Given the description of an element on the screen output the (x, y) to click on. 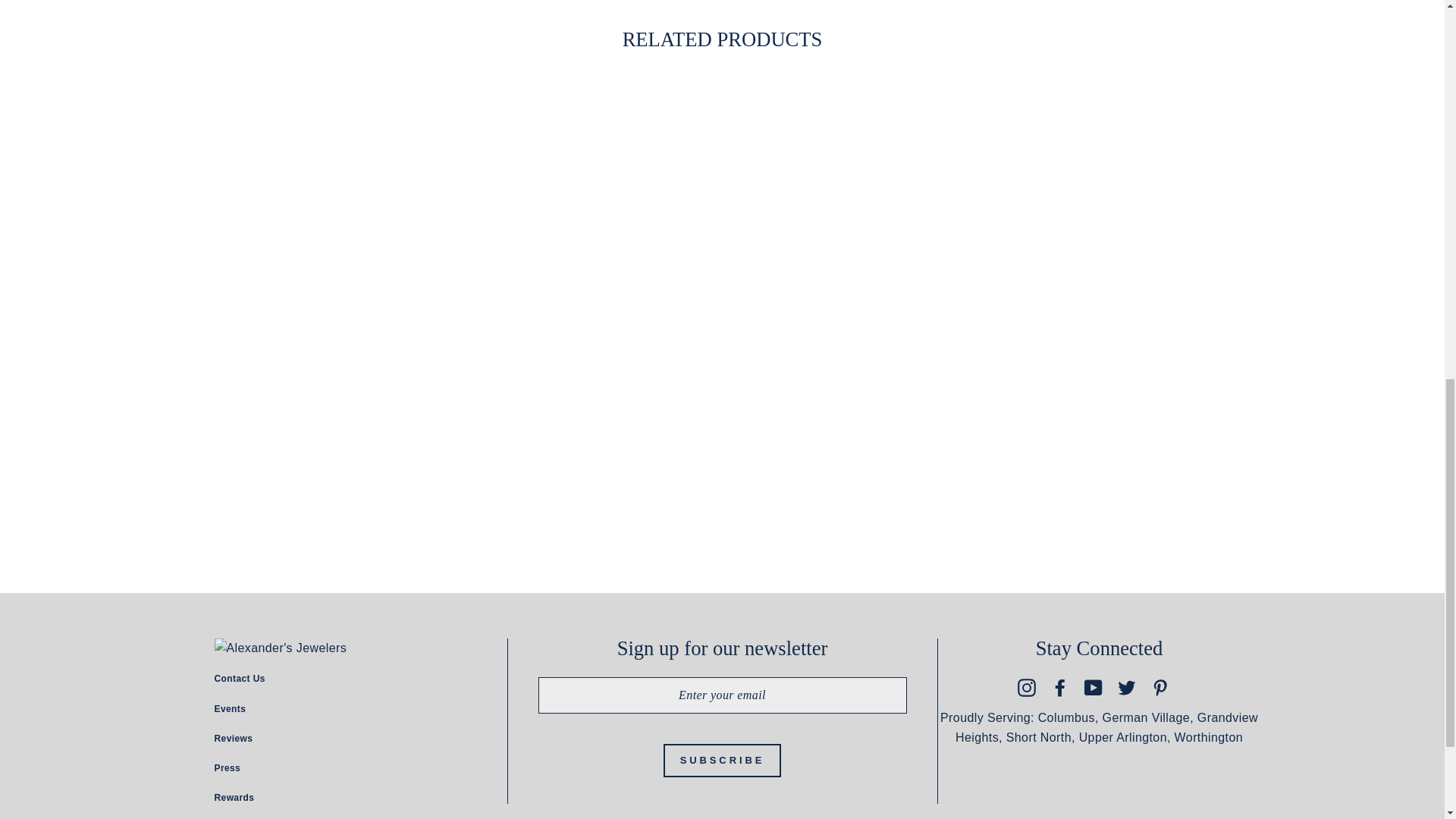
Alexander's Jewelers on Facebook (1059, 686)
Alexander's Jewelers on Twitter (1126, 686)
Alexander's Jewelers on Pinterest (1160, 686)
Alexander's Jewelers on YouTube (1093, 686)
Alexander's Jewelers on Instagram (1026, 686)
